Given the description of an element on the screen output the (x, y) to click on. 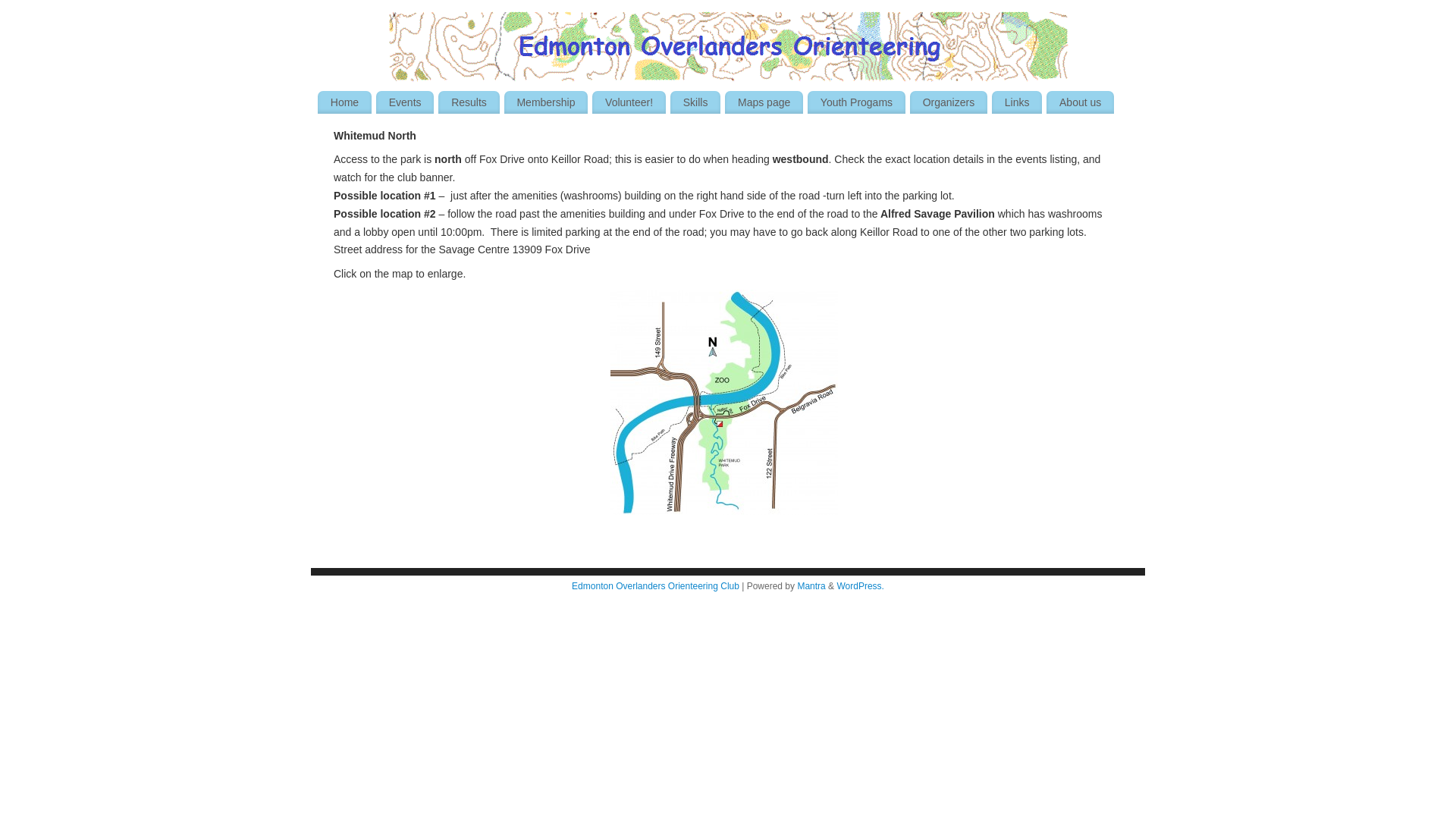
Events Element type: text (404, 102)
WhitemudNorthLocationMap Element type: hover (723, 401)
Skills Element type: text (695, 102)
Results Element type: text (468, 102)
Organizers Element type: text (948, 102)
Home Element type: text (344, 102)
Edmonton Overlanders Orienteering Club Element type: text (655, 585)
Membership Element type: text (546, 102)
Youth Progams Element type: text (856, 102)
WordPress. Element type: text (859, 585)
Maps page Element type: text (763, 102)
About us Element type: text (1079, 102)
Mantra Element type: text (811, 585)
Links Element type: text (1016, 102)
Volunteer! Element type: text (628, 102)
